Given the description of an element on the screen output the (x, y) to click on. 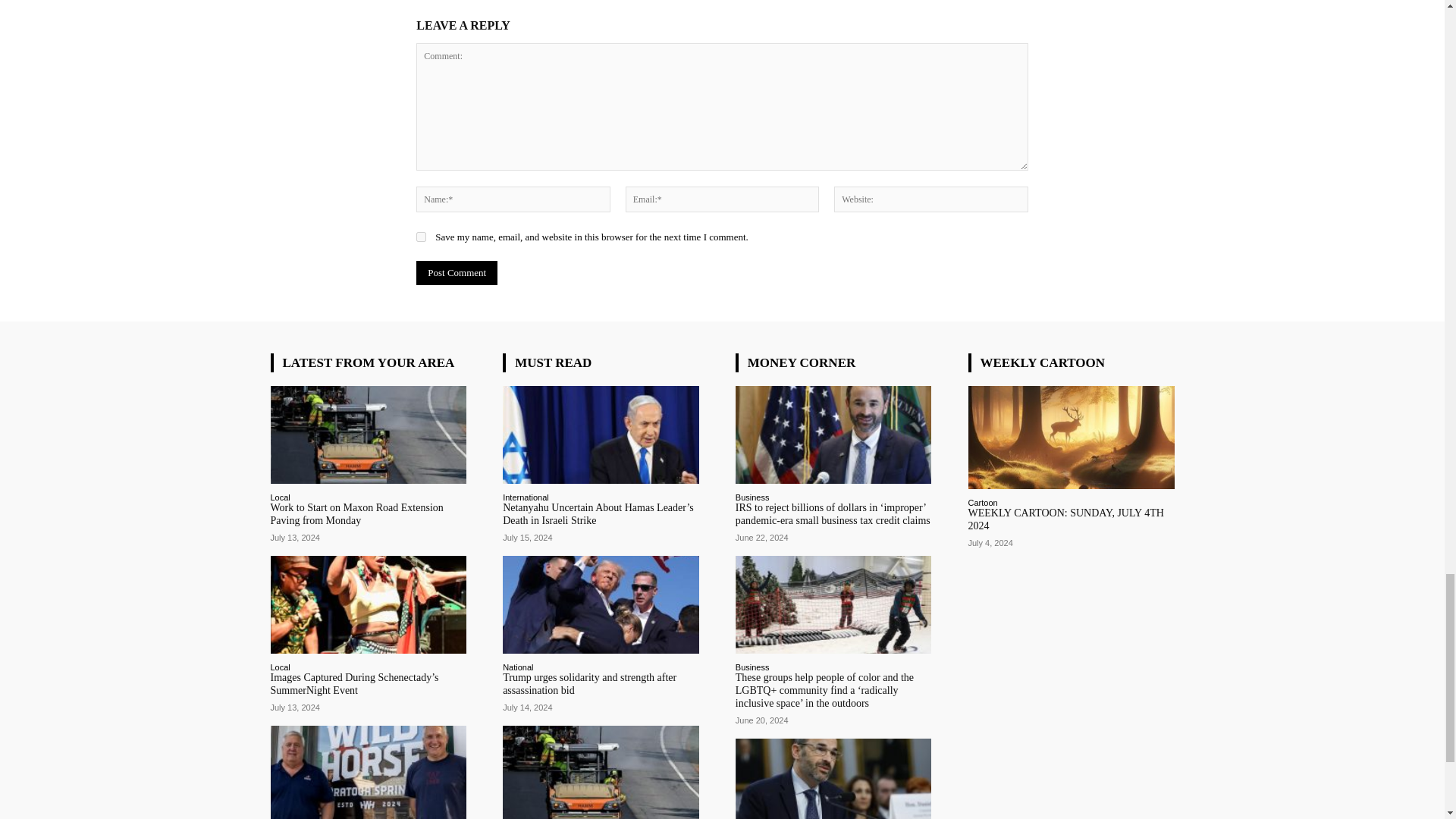
Post Comment (456, 273)
yes (421, 236)
